Given the description of an element on the screen output the (x, y) to click on. 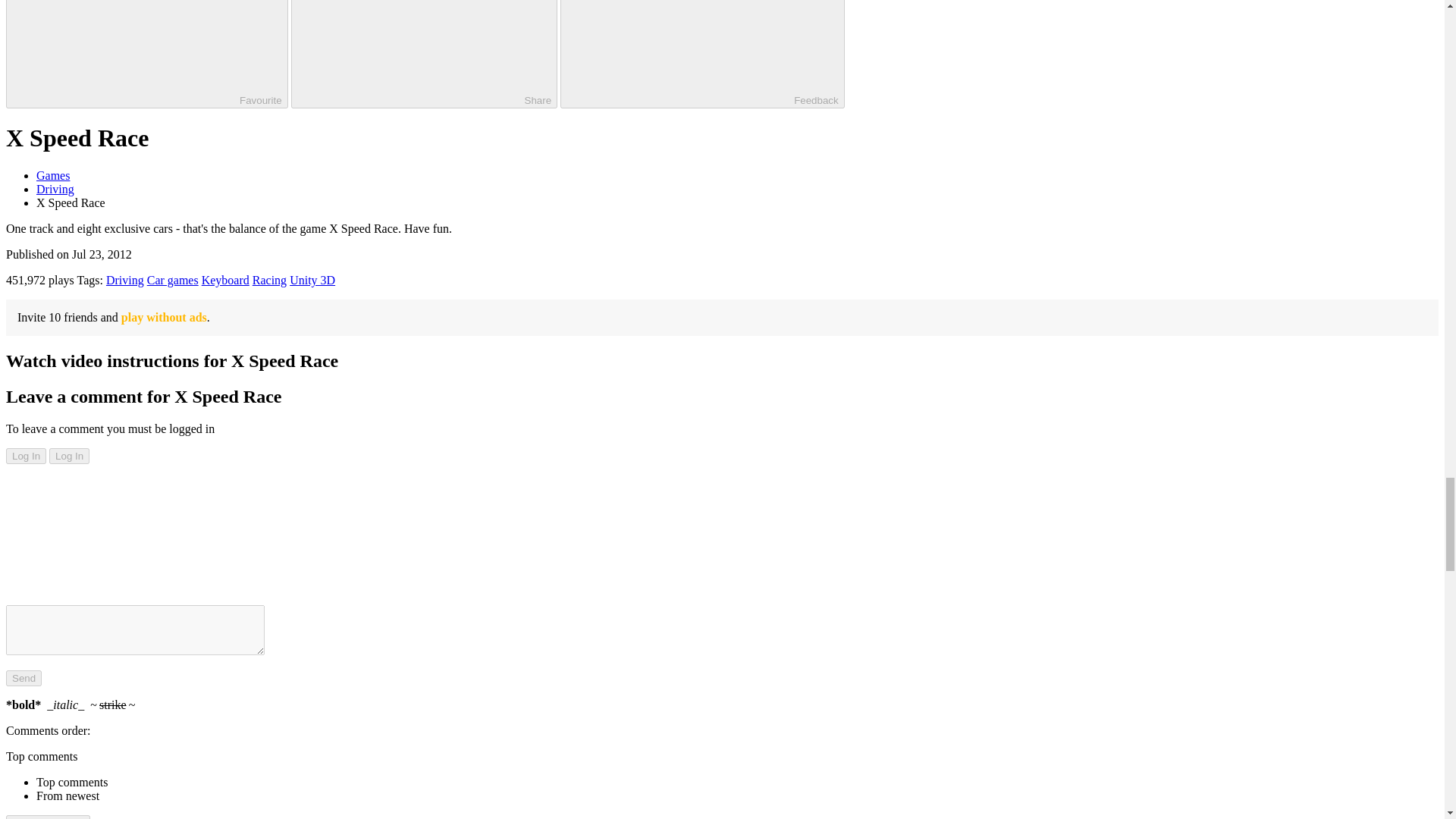
Share (424, 54)
Car games (172, 279)
Feedback (702, 54)
Keyboard (225, 279)
Feedback (702, 54)
Share (424, 54)
Driving (125, 279)
Driving (55, 188)
Favourite (146, 54)
Games (52, 174)
